Given the description of an element on the screen output the (x, y) to click on. 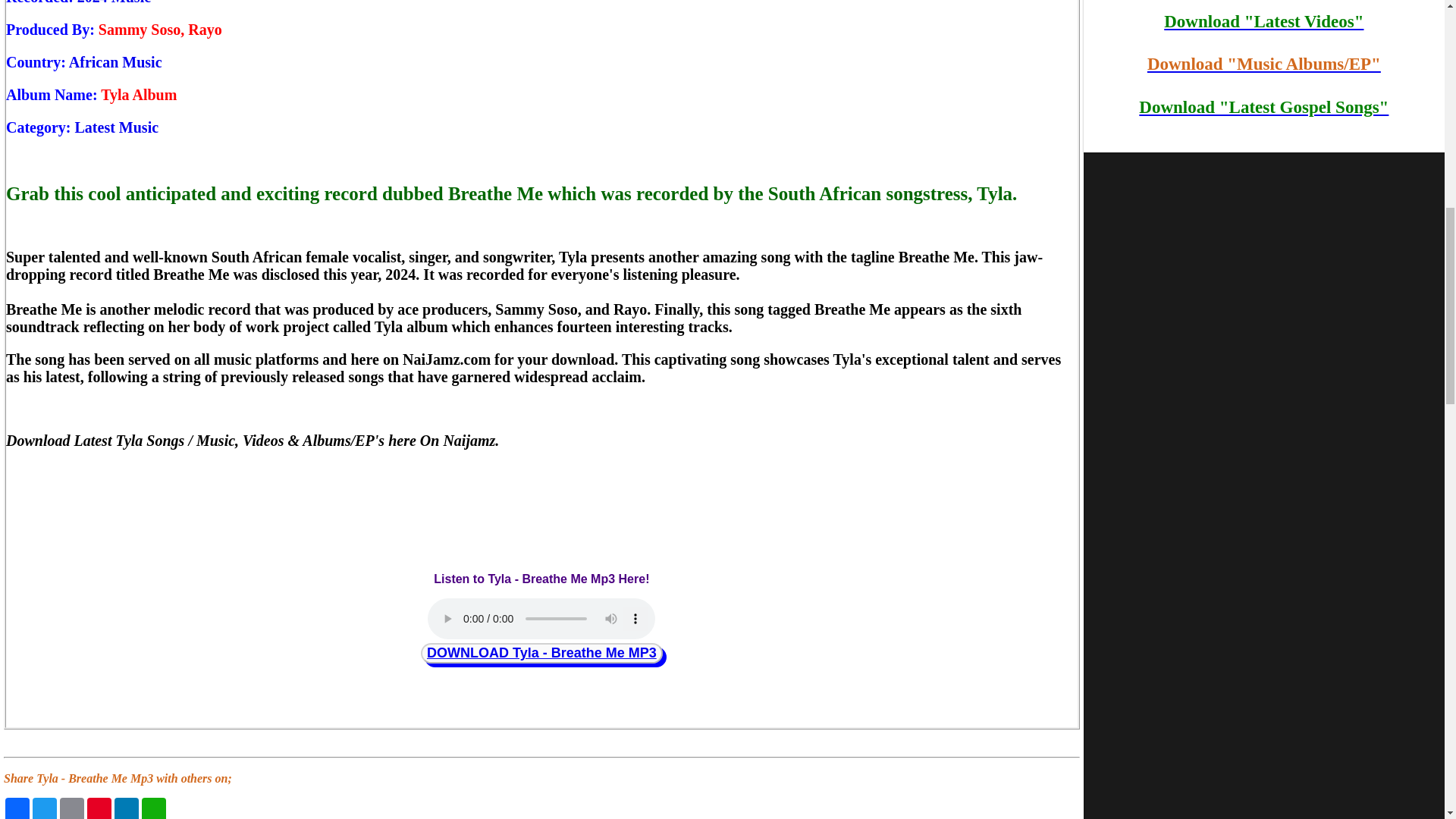
DOWNLOAD Tyla - Breathe Me MP3 (541, 652)
Email (71, 808)
Facebook (17, 808)
Pinterest (99, 808)
LinkedIn (126, 808)
Tyla Album (138, 94)
African Music (114, 62)
WhatsApp (153, 808)
2024 Music (114, 2)
DOWNLOAD Tyla - Breathe Me MP3 (541, 652)
Twitter (44, 808)
Latest Music (116, 126)
